Given the description of an element on the screen output the (x, y) to click on. 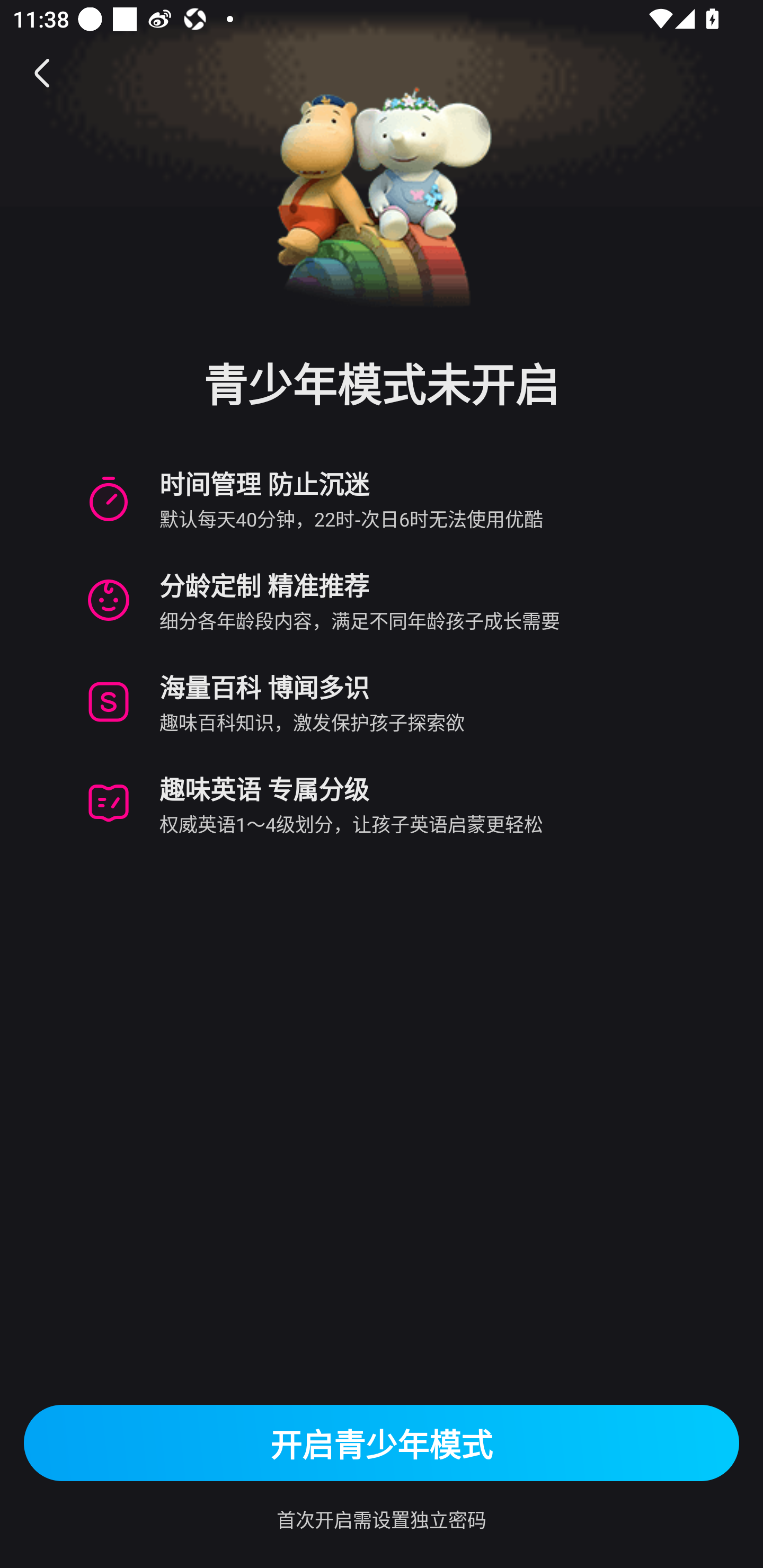
返回 (43, 72)
开启青少年模式 (381, 1442)
